Given the description of an element on the screen output the (x, y) to click on. 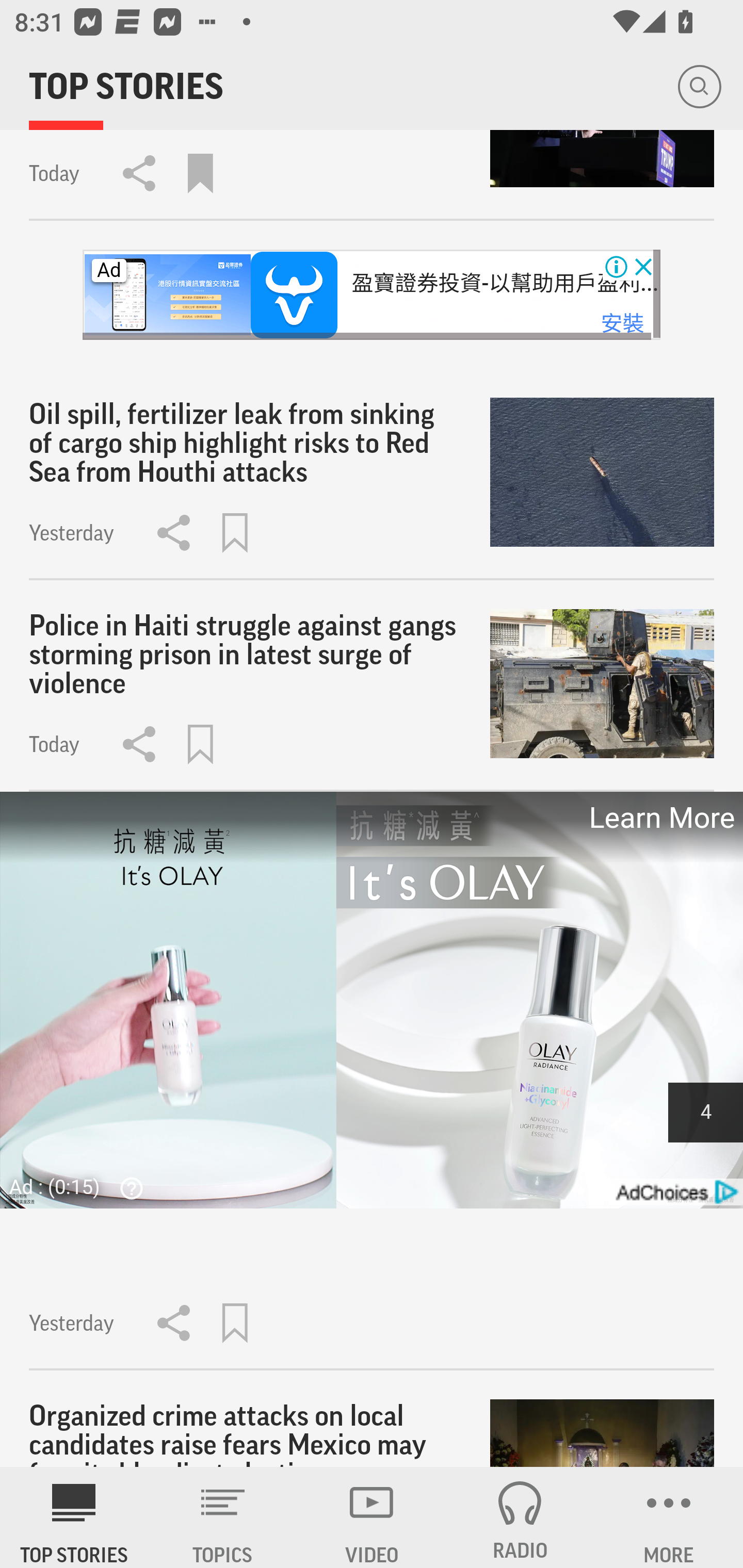
盈寶證券投資-以幫助用戶盈利... (504, 283)
安裝 (621, 323)
Learn More (660, 817)
Skip Ad Countdown (705, 1111)
Ad : (0:15) Why This Ad? (82, 1185)
Why This Ad? (126, 1187)
get?name=admarker-full-tl (675, 1192)
AP News TOP STORIES (74, 1517)
TOPICS (222, 1517)
VIDEO (371, 1517)
RADIO (519, 1517)
MORE (668, 1517)
